Given the description of an element on the screen output the (x, y) to click on. 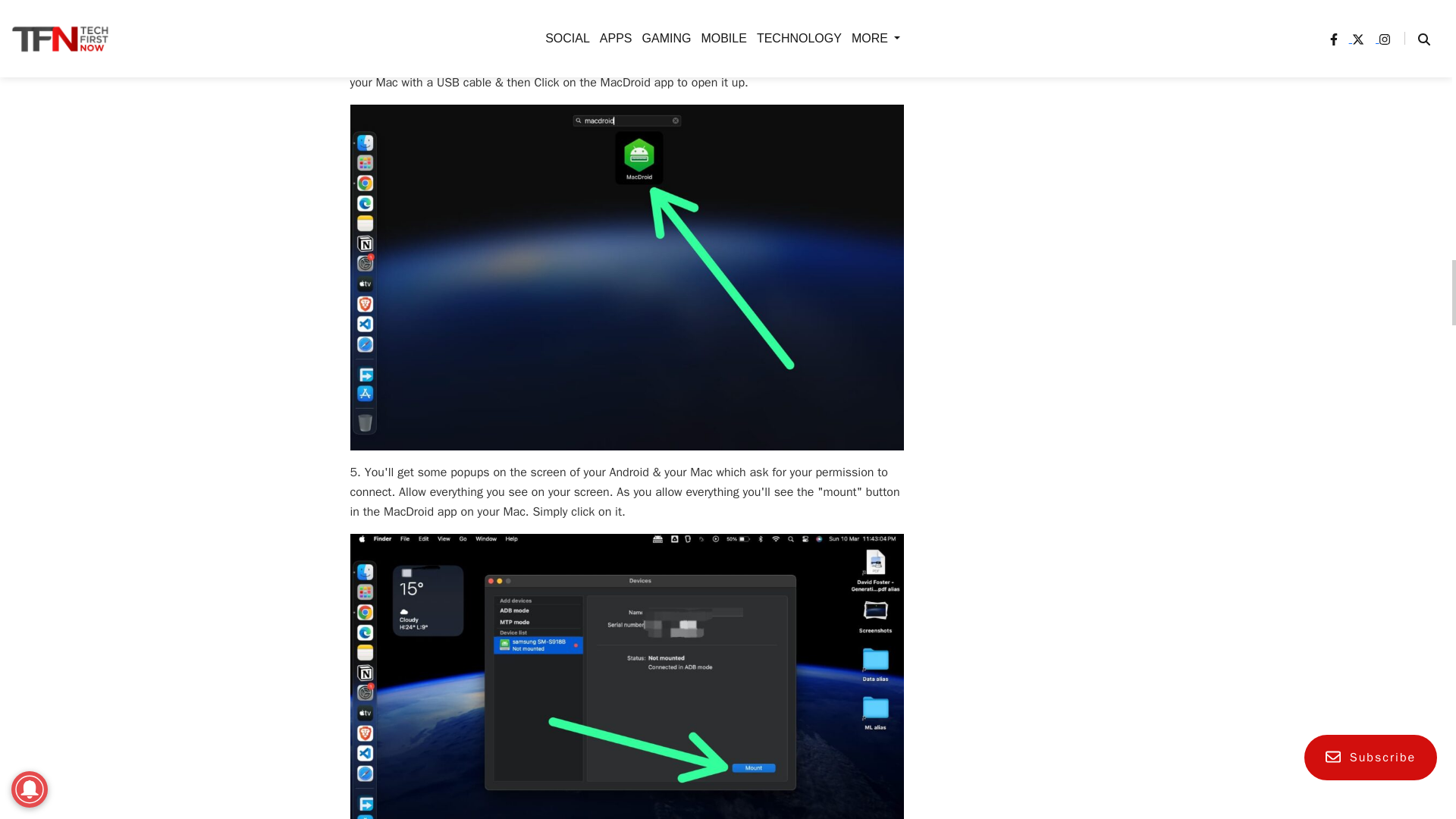
publive-image (627, 20)
